Given the description of an element on the screen output the (x, y) to click on. 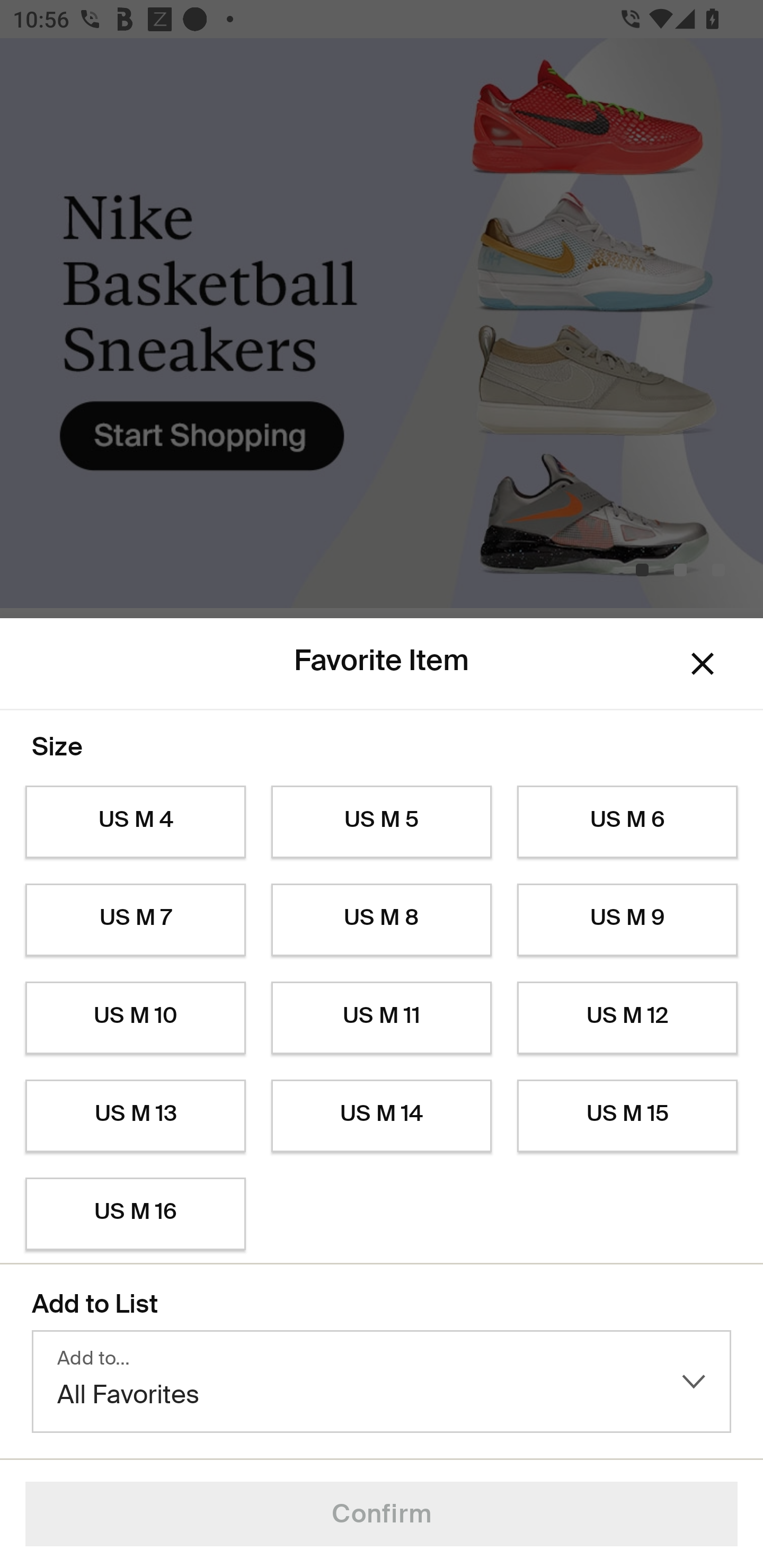
Dismiss (702, 663)
US M 4 (135, 822)
US M 5 (381, 822)
US M 6 (627, 822)
US M 7 (135, 919)
US M 8 (381, 919)
US M 9 (627, 919)
US M 10 (135, 1018)
US M 11 (381, 1018)
US M 12 (627, 1018)
US M 13 (135, 1116)
US M 14 (381, 1116)
US M 15 (627, 1116)
US M 16 (135, 1214)
Add to… All Favorites (381, 1381)
Confirm (381, 1513)
